Given the description of an element on the screen output the (x, y) to click on. 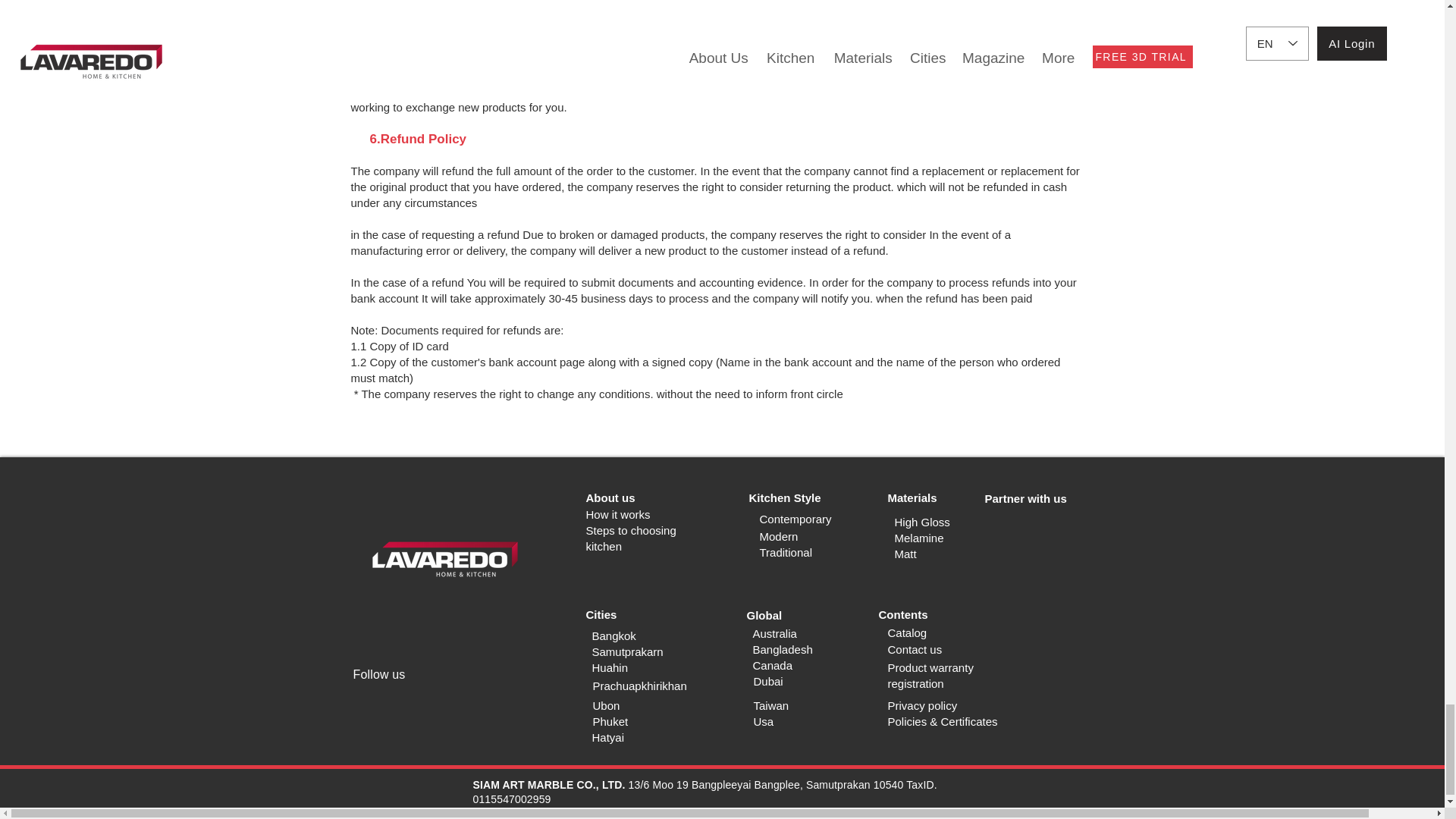
Prachuapkhirikhan (639, 685)
How it works (617, 513)
Steps to choosing kitchen (630, 538)
Kitchen Style (785, 497)
Bangkok (612, 635)
Contemporary (795, 518)
Huahin (609, 667)
Phuket (610, 721)
Samutprakarn (626, 651)
About us (609, 497)
